Given the description of an element on the screen output the (x, y) to click on. 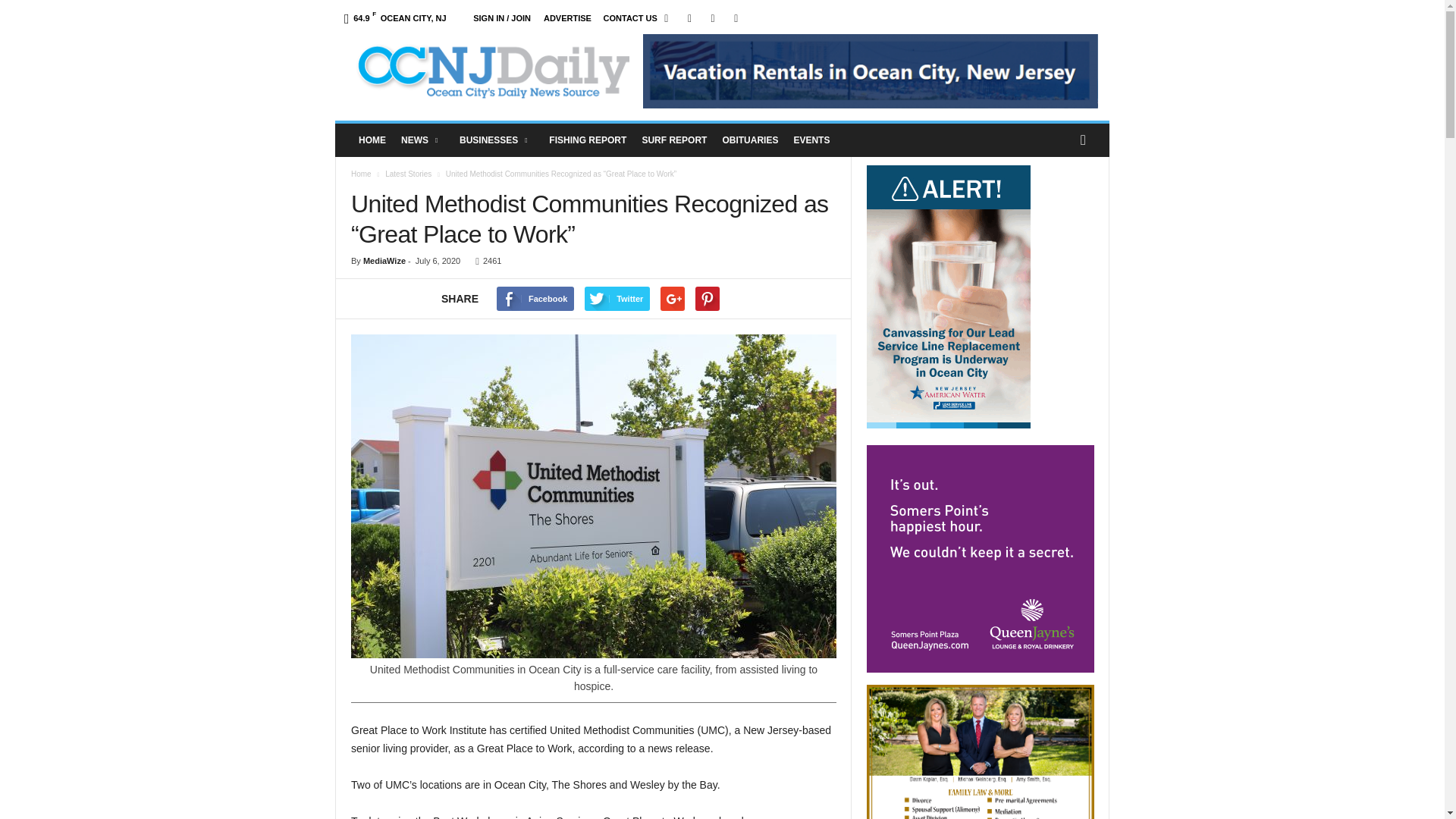
View all posts in Latest Stories (407, 173)
Youtube (735, 18)
OCNJDaily (491, 71)
ADVERTISE (567, 17)
Mail (689, 18)
HOME (371, 140)
Twitter (712, 18)
Facebook (666, 18)
NEWS (422, 140)
CONTACT US (631, 17)
